Given the description of an element on the screen output the (x, y) to click on. 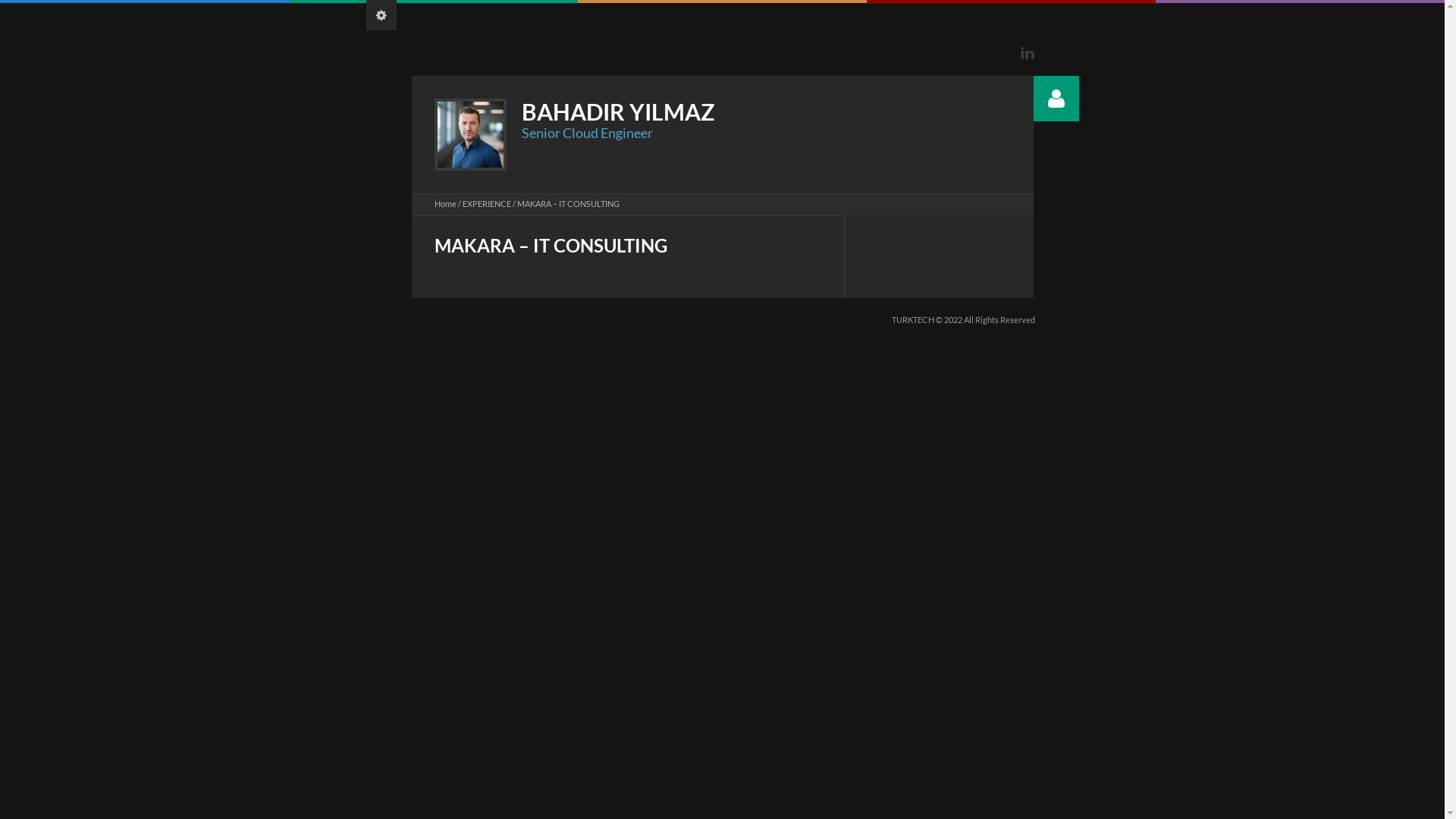
Linkedin Element type: text (1027, 52)
LIGHT VERSION Element type: text (380, 15)
EXPERIENCE Element type: text (486, 203)
Home Element type: text (444, 203)
